Given the description of an element on the screen output the (x, y) to click on. 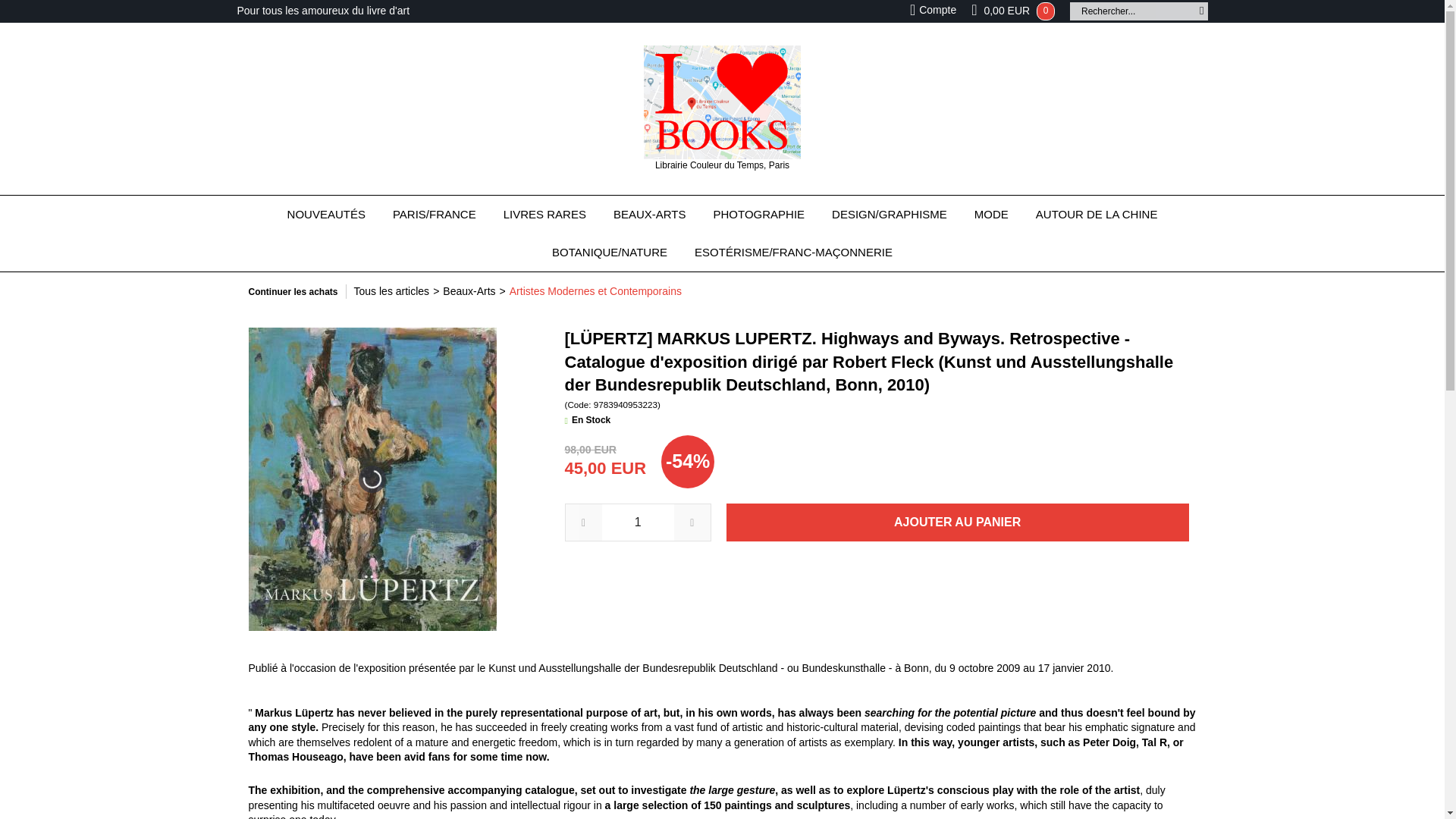
Rechercher... (1132, 11)
LIVRES RARES (544, 214)
Rechercher... (1132, 11)
PHOTOGRAPHIE (759, 214)
1 (638, 522)
BEAUX-ARTS (649, 214)
0,00 EUR 0 (1019, 10)
Compte (933, 9)
